Given the description of an element on the screen output the (x, y) to click on. 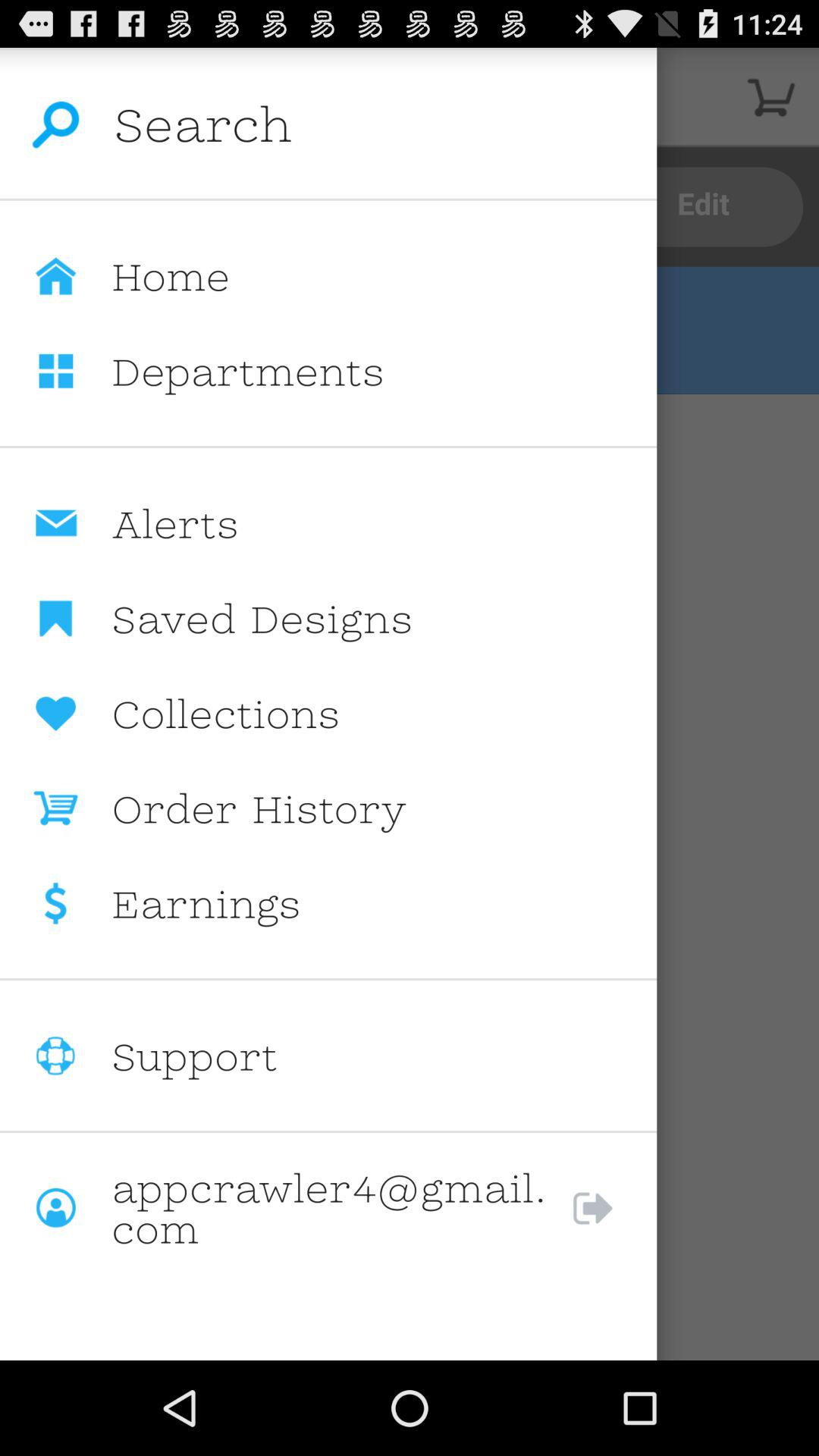
go to cart (771, 97)
click on edit option (703, 207)
